Given the description of an element on the screen output the (x, y) to click on. 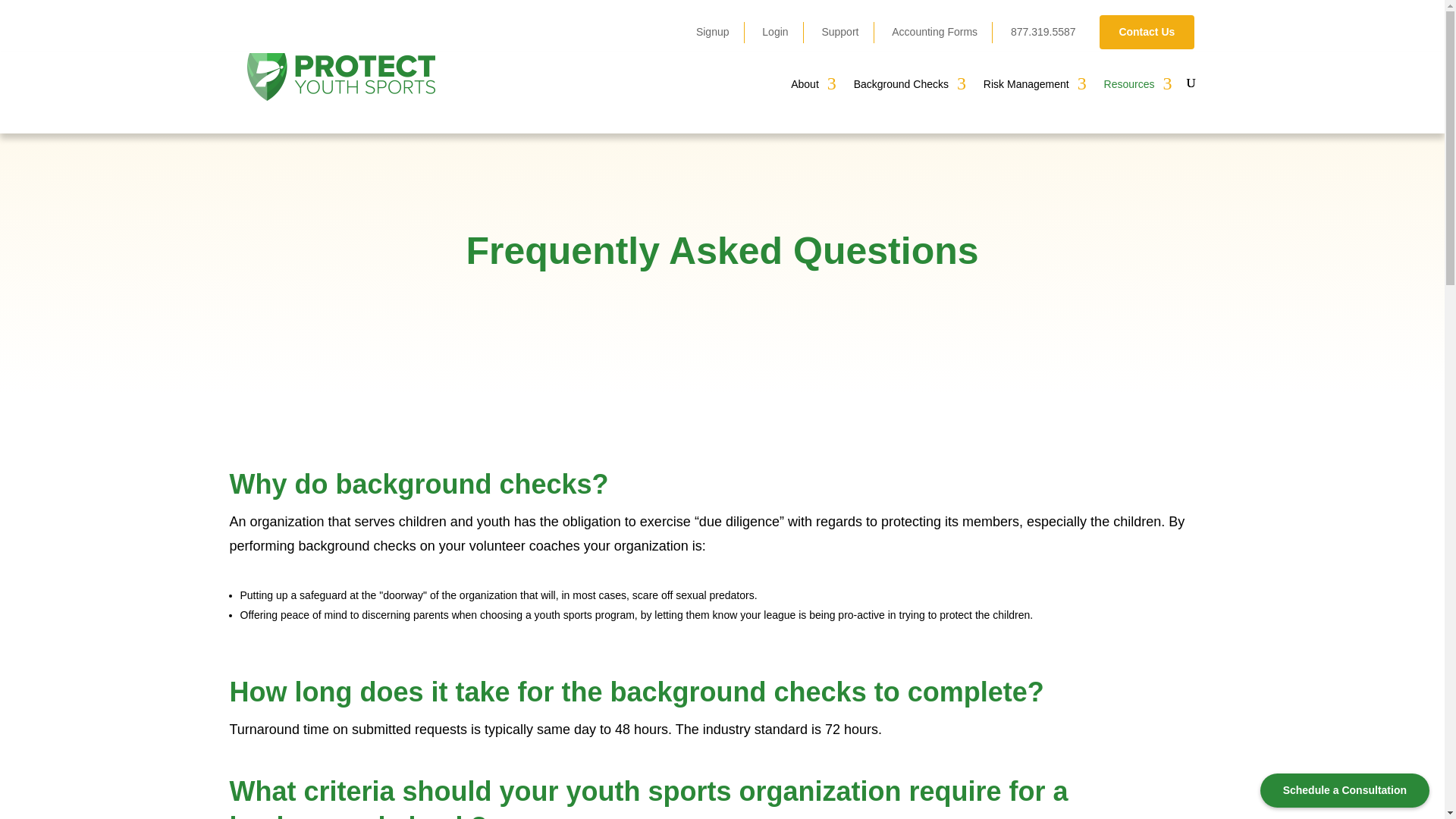
877.319.5587 (1042, 32)
About (812, 96)
Support (840, 32)
Resources (1136, 96)
Background Checks (908, 96)
Accounting Forms (933, 32)
Risk Management (1034, 96)
Signup (712, 32)
Login (774, 32)
Contact Us (1146, 32)
